Given the description of an element on the screen output the (x, y) to click on. 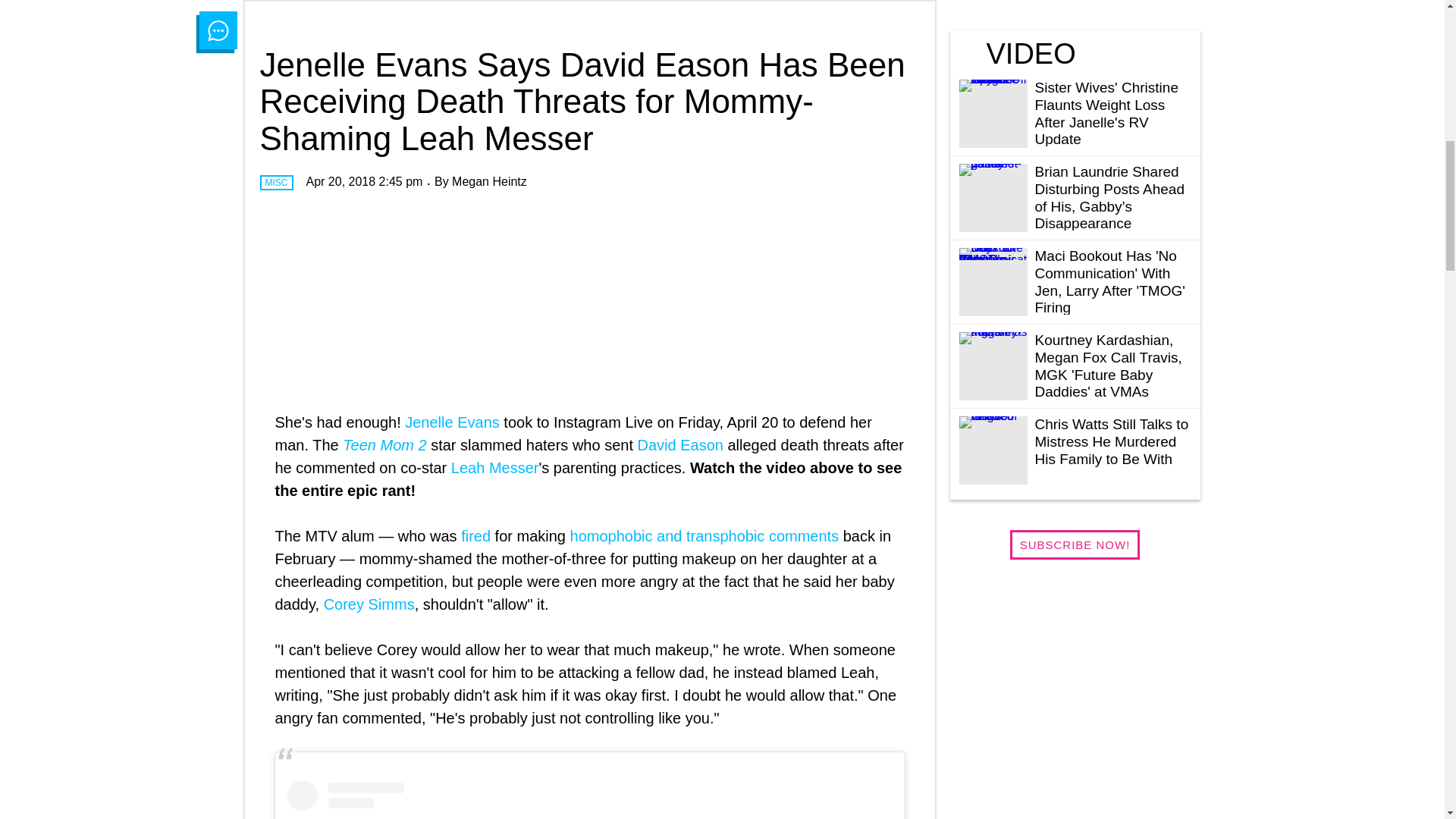
Posts by Megan Heintz (489, 181)
